Given the description of an element on the screen output the (x, y) to click on. 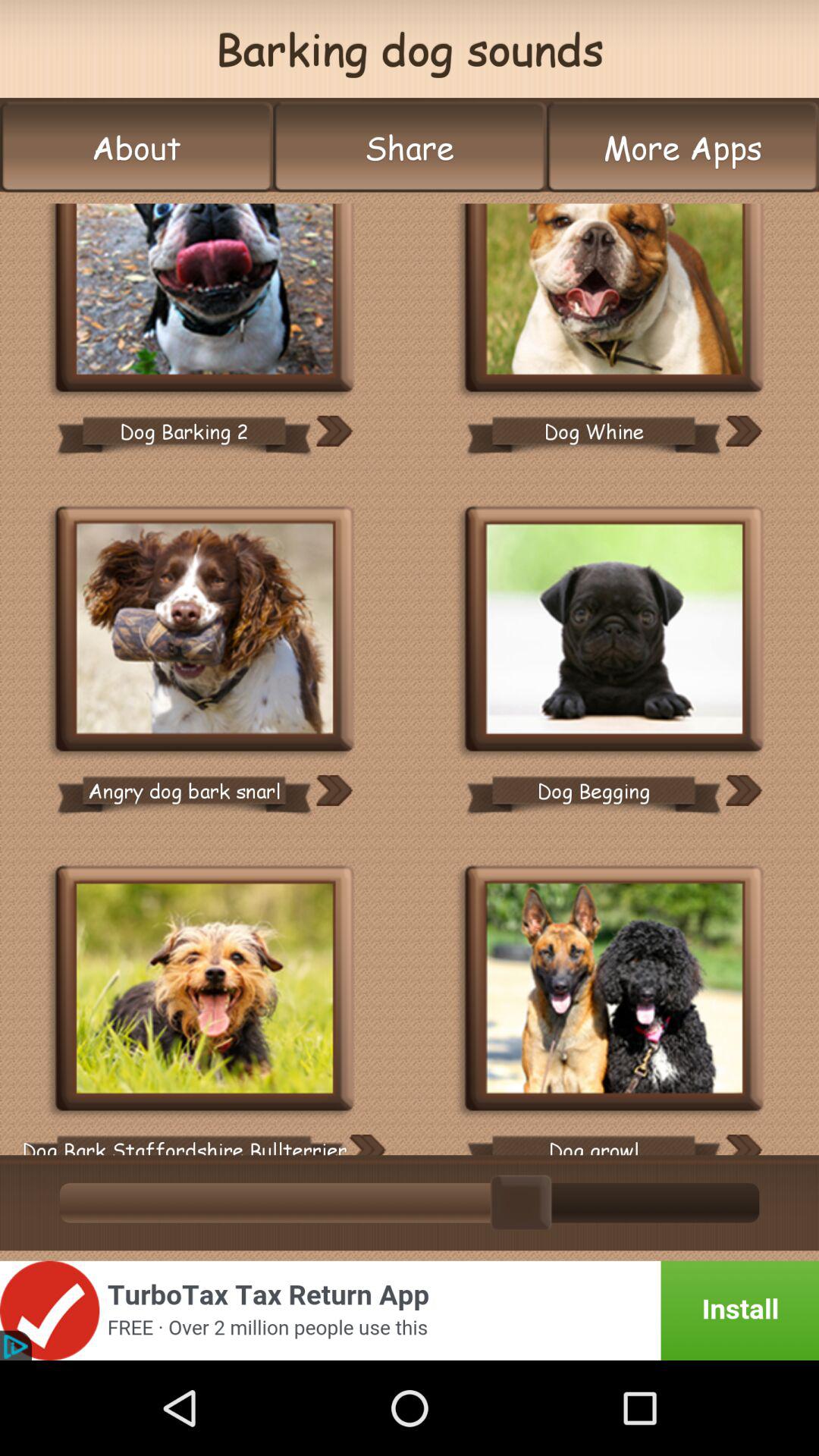
launch share item (409, 147)
